Given the description of an element on the screen output the (x, y) to click on. 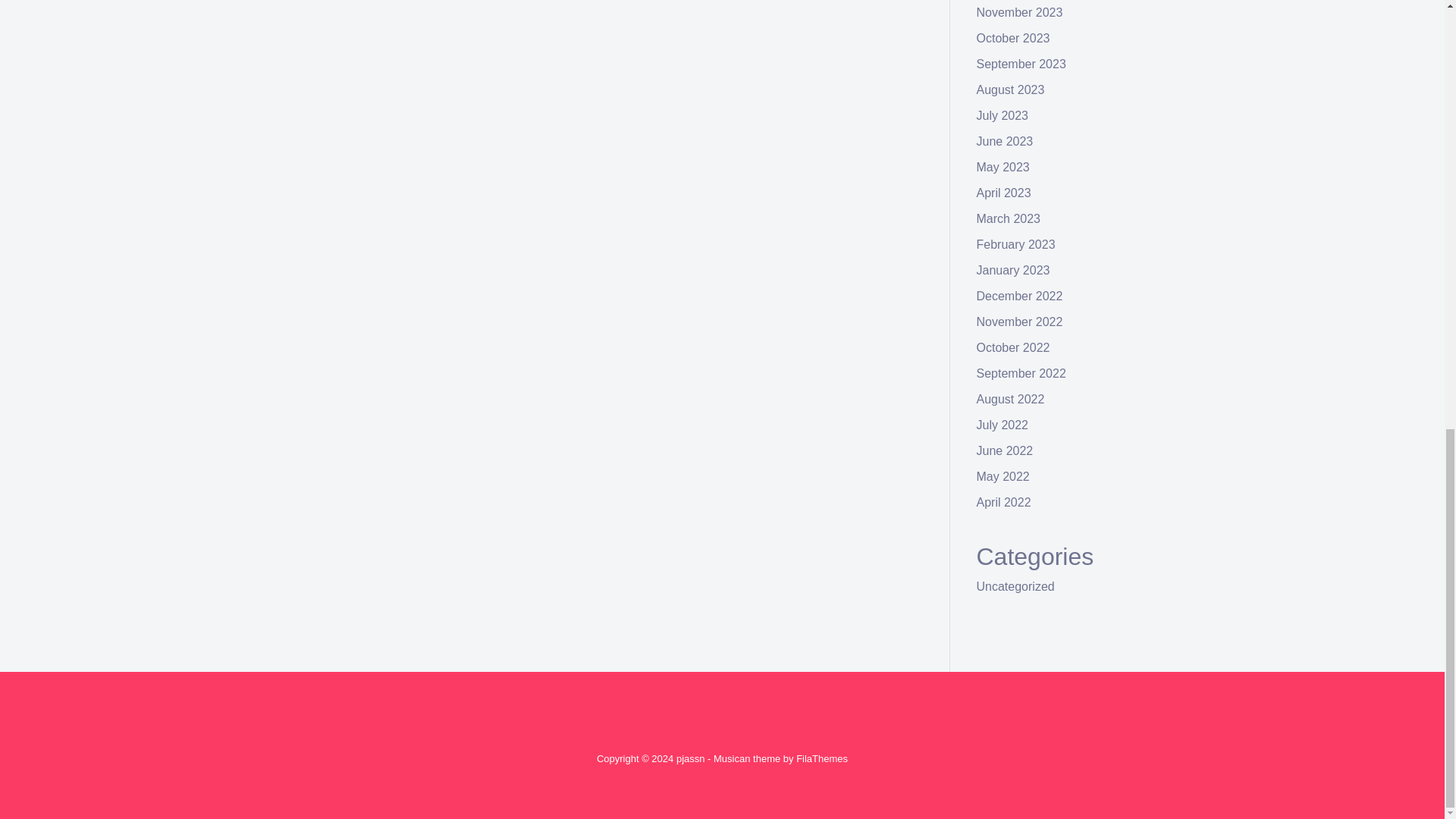
June 2023 (1004, 141)
July 2022 (1002, 424)
March 2023 (1008, 218)
April 2023 (1003, 192)
July 2023 (1002, 115)
pjassn (690, 758)
September 2023 (1020, 63)
December 2022 (1019, 295)
October 2022 (1012, 347)
February 2023 (1015, 244)
